Given the description of an element on the screen output the (x, y) to click on. 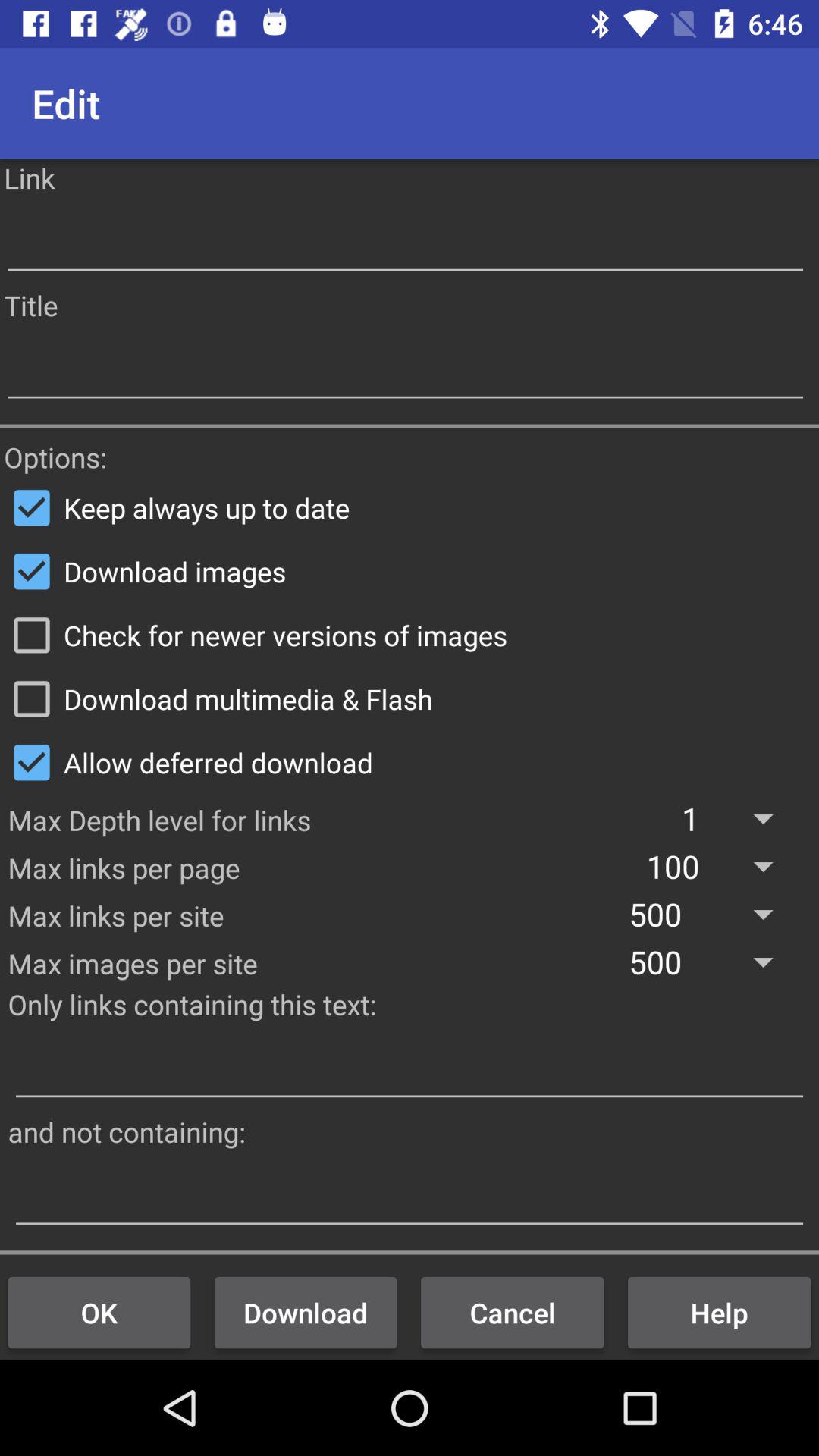
select icon below the check for newer item (409, 698)
